Given the description of an element on the screen output the (x, y) to click on. 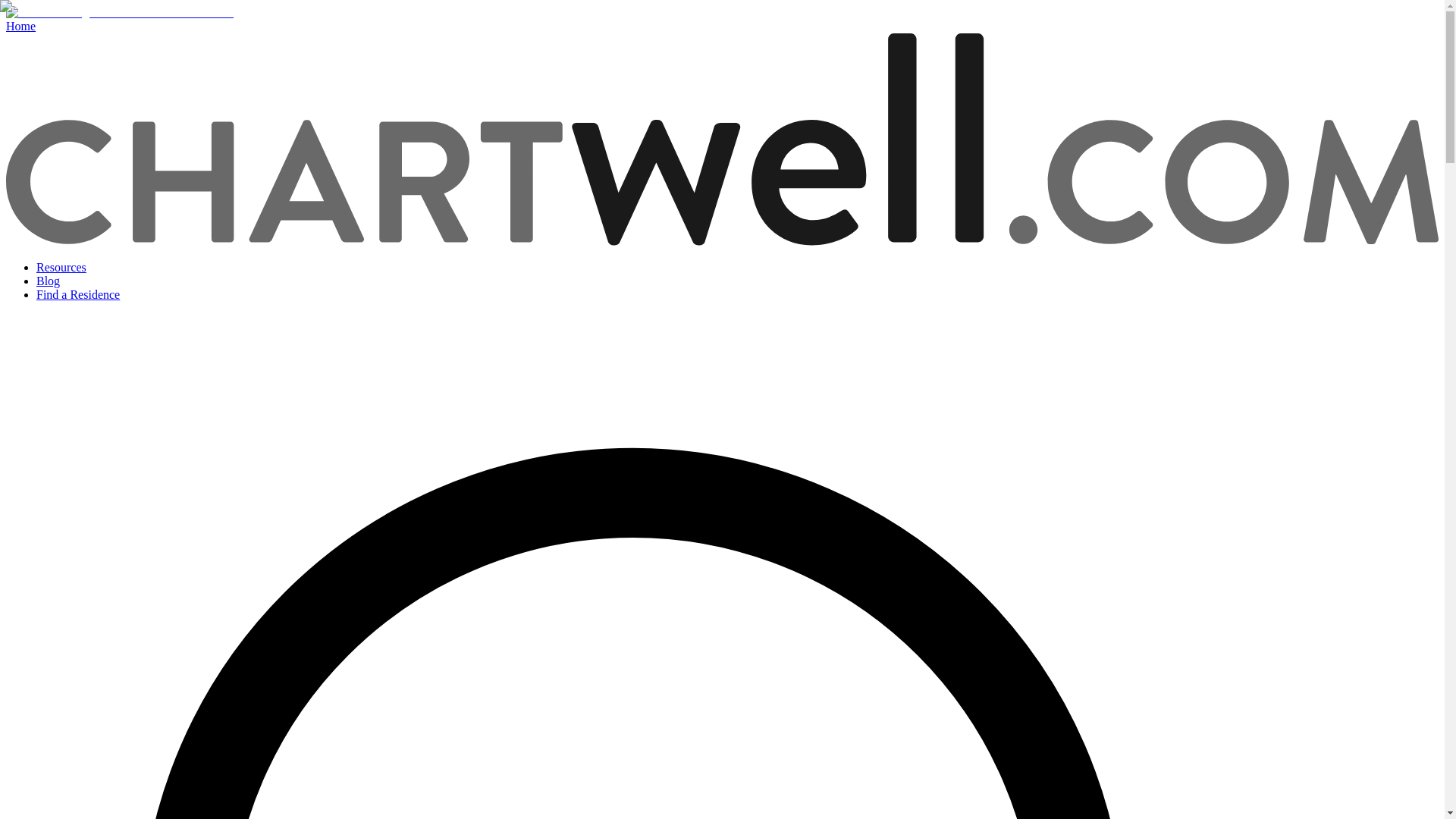
Blog (47, 280)
Resources (60, 267)
Find a Residence (77, 294)
